Given the description of an element on the screen output the (x, y) to click on. 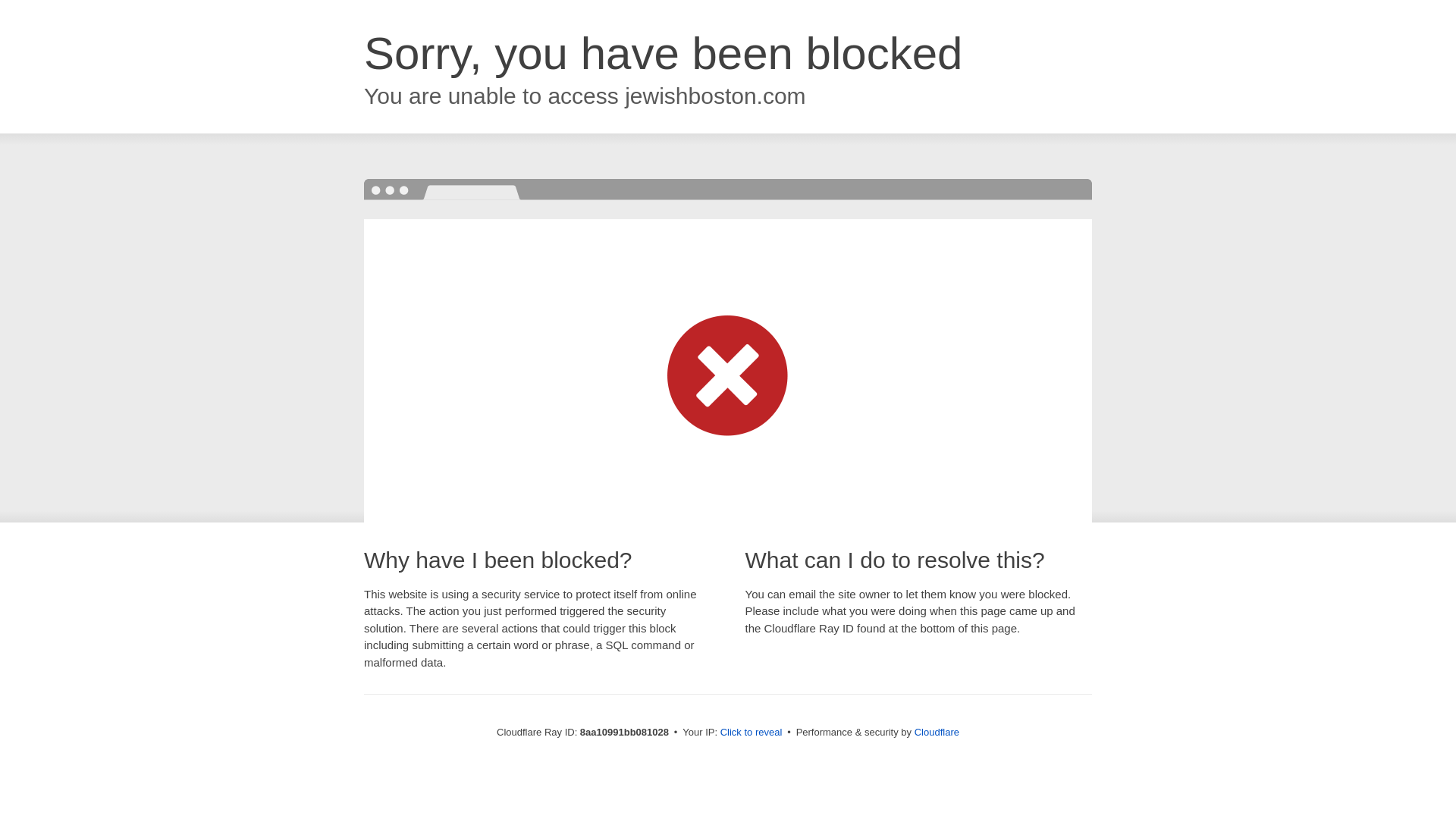
Click to reveal (751, 732)
Cloudflare (936, 731)
